Given the description of an element on the screen output the (x, y) to click on. 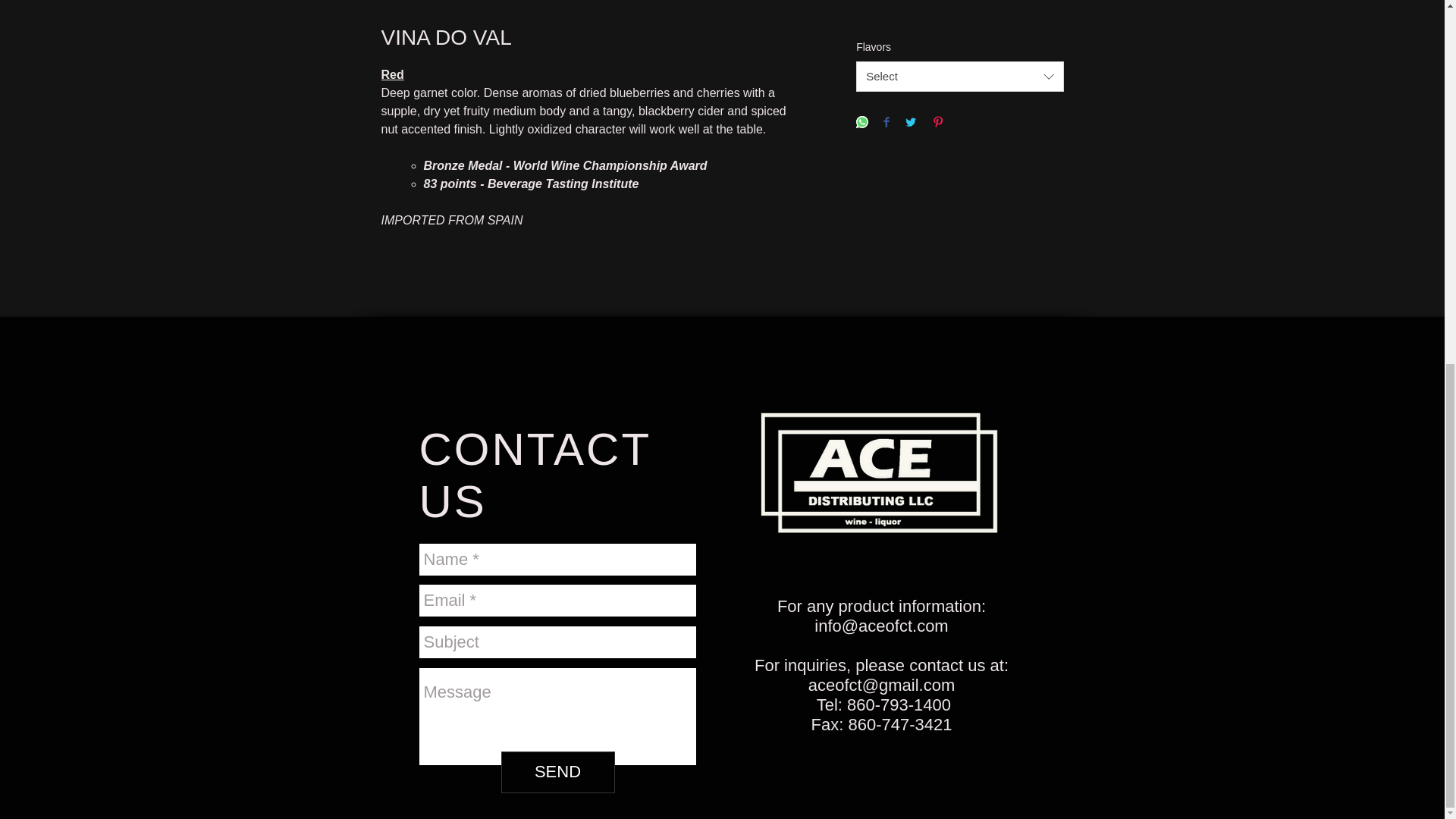
Select (959, 76)
SEND (557, 772)
